Given the description of an element on the screen output the (x, y) to click on. 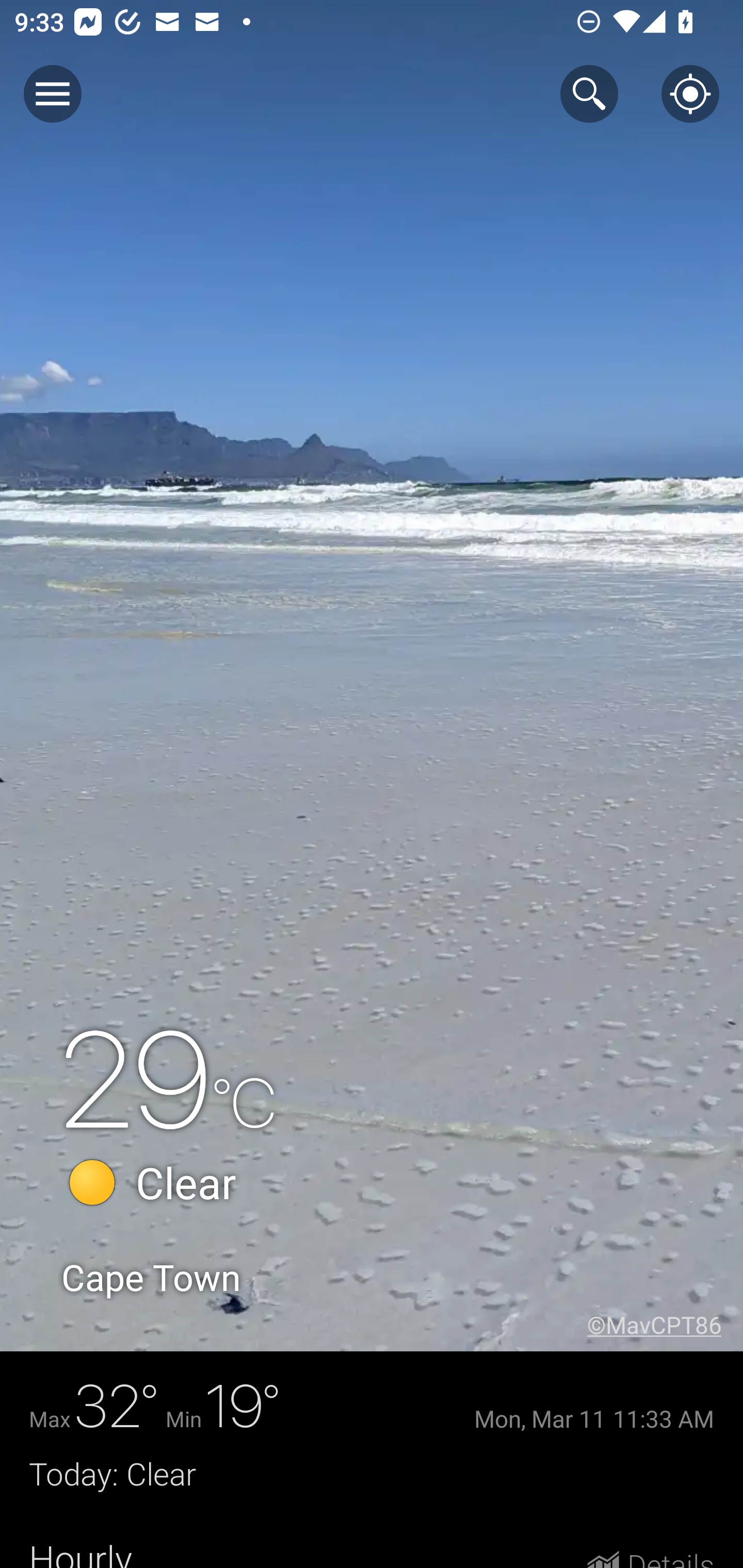
©MavCPT86 (664, 1324)
